Given the description of an element on the screen output the (x, y) to click on. 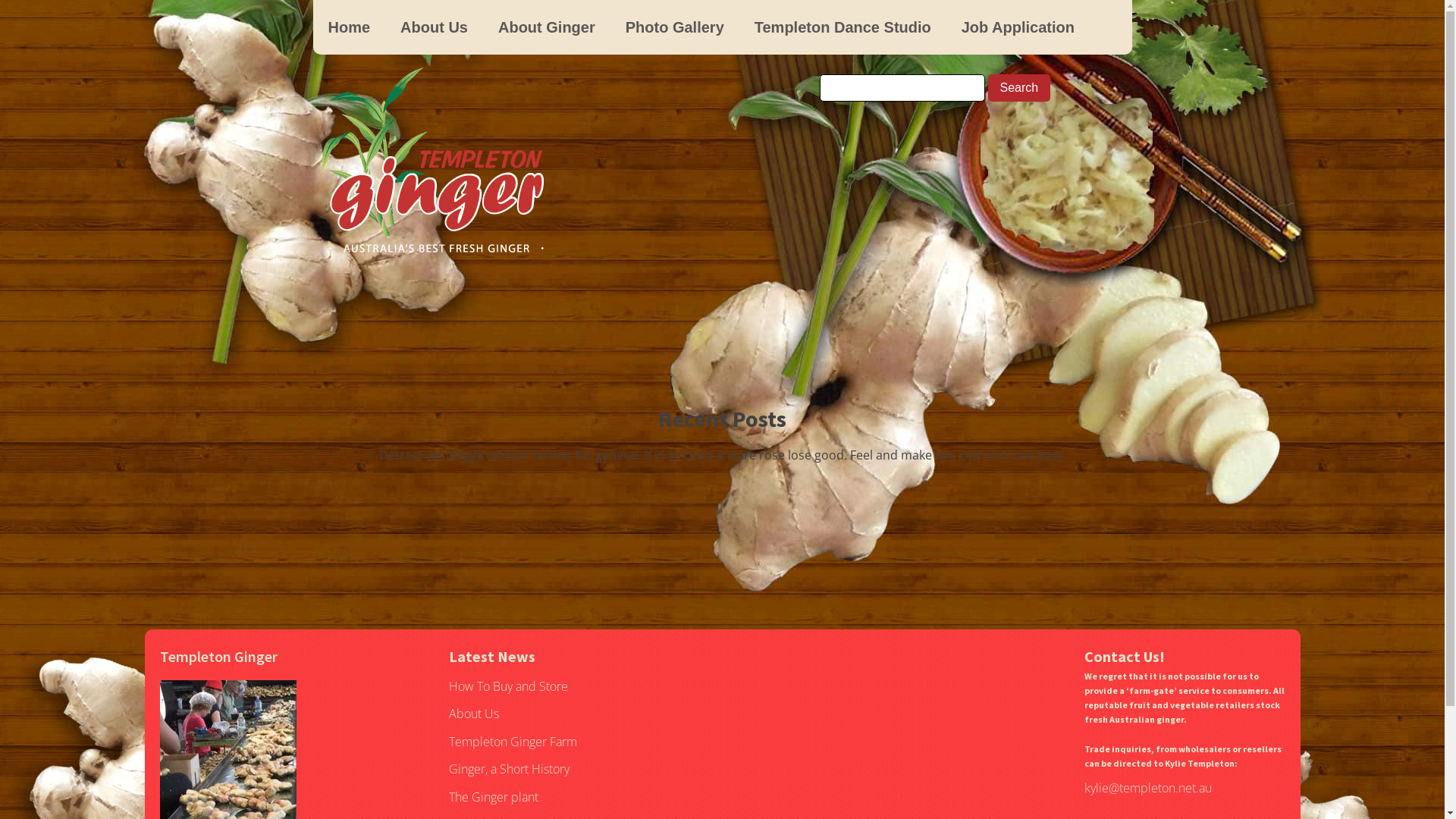
Search Element type: text (1018, 87)
About Us Element type: text (434, 27)
Templeton Dance Studio Element type: text (842, 27)
Ginger, a Short History Element type: text (508, 769)
kylie@templeton.net.au Element type: text (1147, 788)
Home Element type: text (348, 27)
Job Application Element type: text (1017, 27)
Photo Gallery Element type: text (674, 27)
About Us Element type: text (473, 714)
About Ginger Element type: text (546, 27)
How To Buy and Store Element type: text (507, 686)
Templeton Ginger Farm Element type: text (512, 742)
The Ginger plant Element type: text (493, 797)
